Given the description of an element on the screen output the (x, y) to click on. 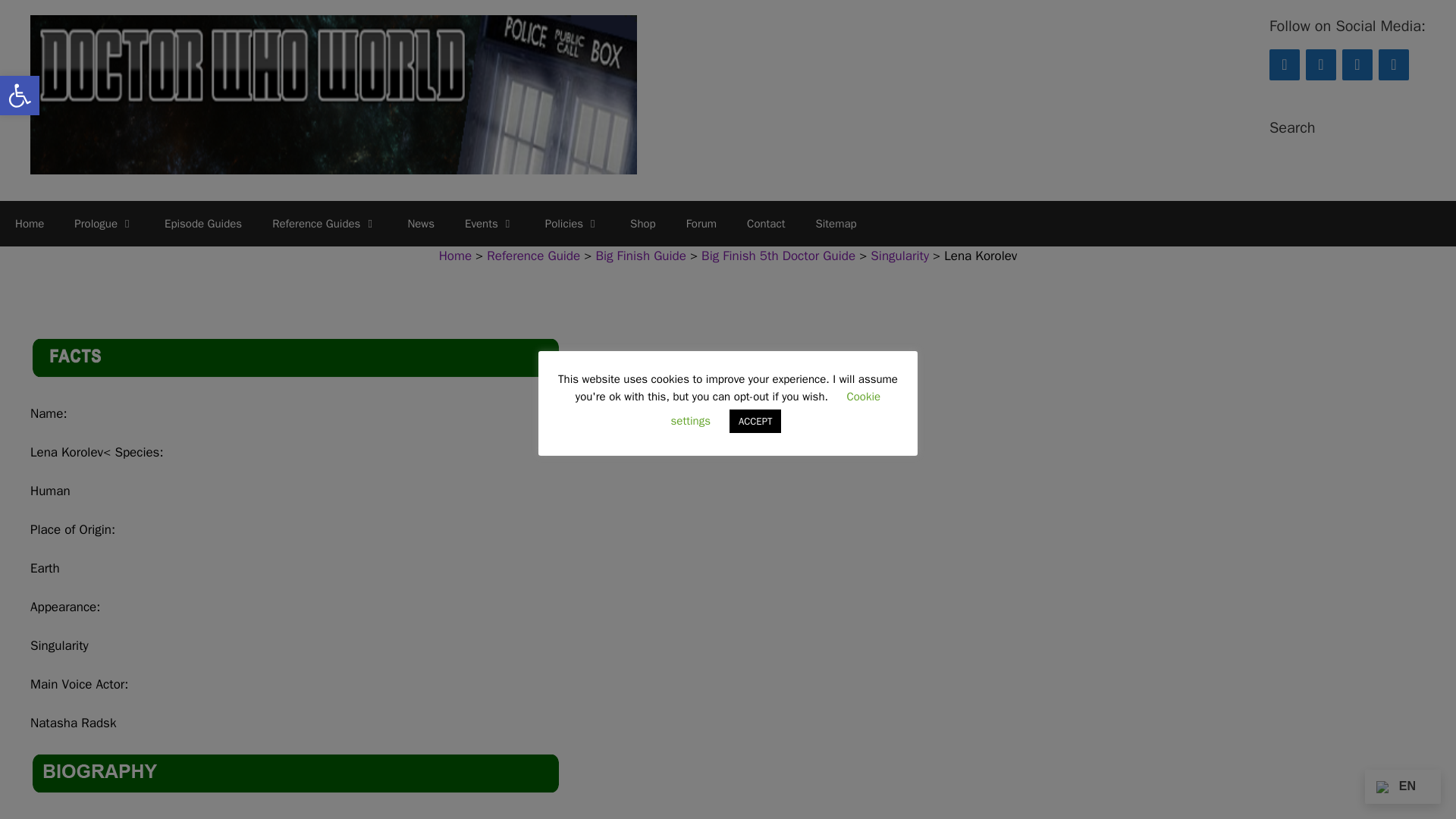
Forum (701, 222)
Twitter (1321, 64)
Sitemap (834, 222)
Shop (642, 222)
Policies (571, 222)
Events (489, 222)
Contact (1393, 64)
Home (29, 222)
Accessibility Tools (19, 95)
Accessibility Tools (19, 95)
